Given the description of an element on the screen output the (x, y) to click on. 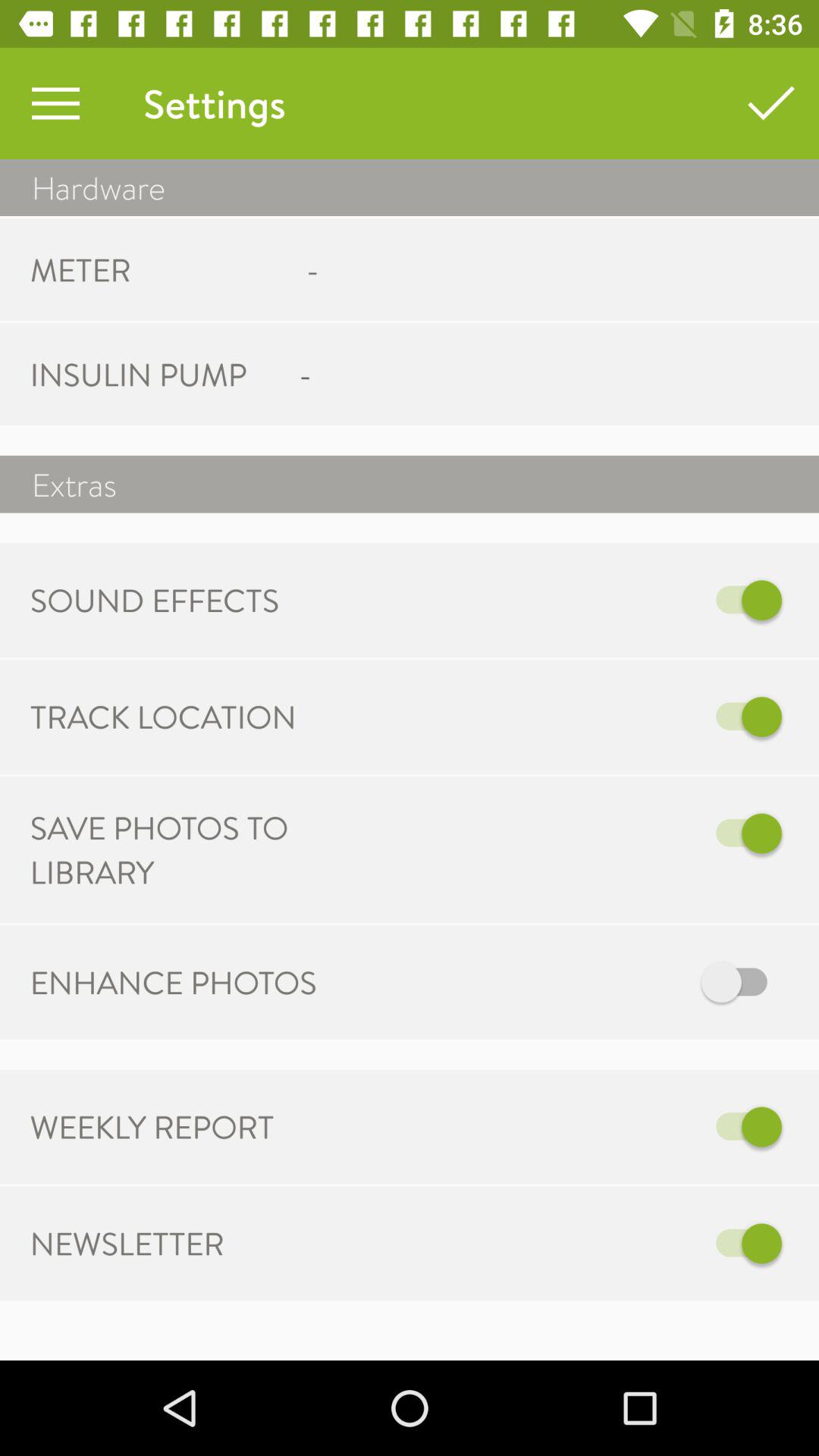
choose icon next to enhance photos icon (566, 982)
